Given the description of an element on the screen output the (x, y) to click on. 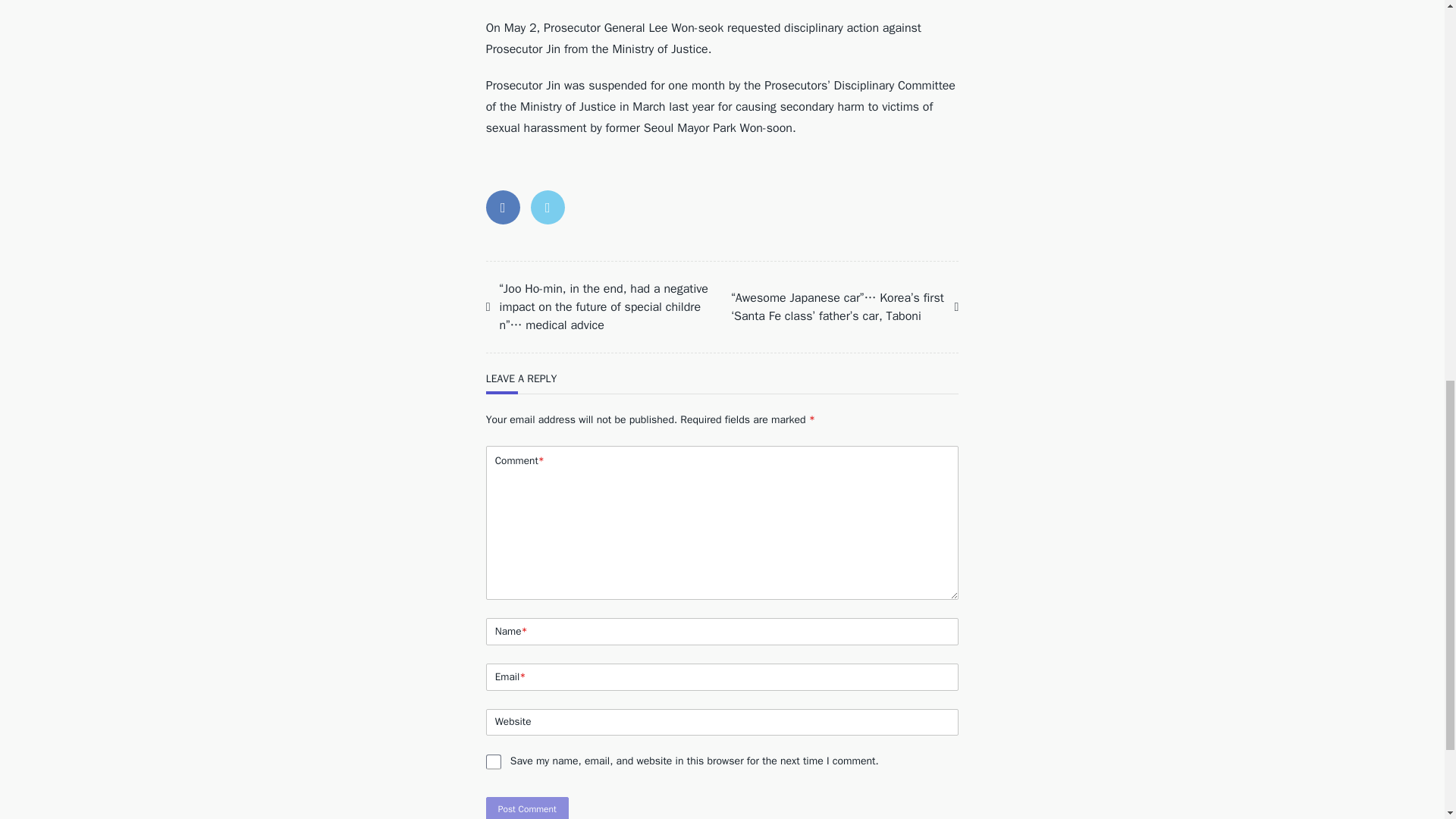
Post Comment (527, 807)
Post Comment (527, 807)
yes (493, 761)
